Given the description of an element on the screen output the (x, y) to click on. 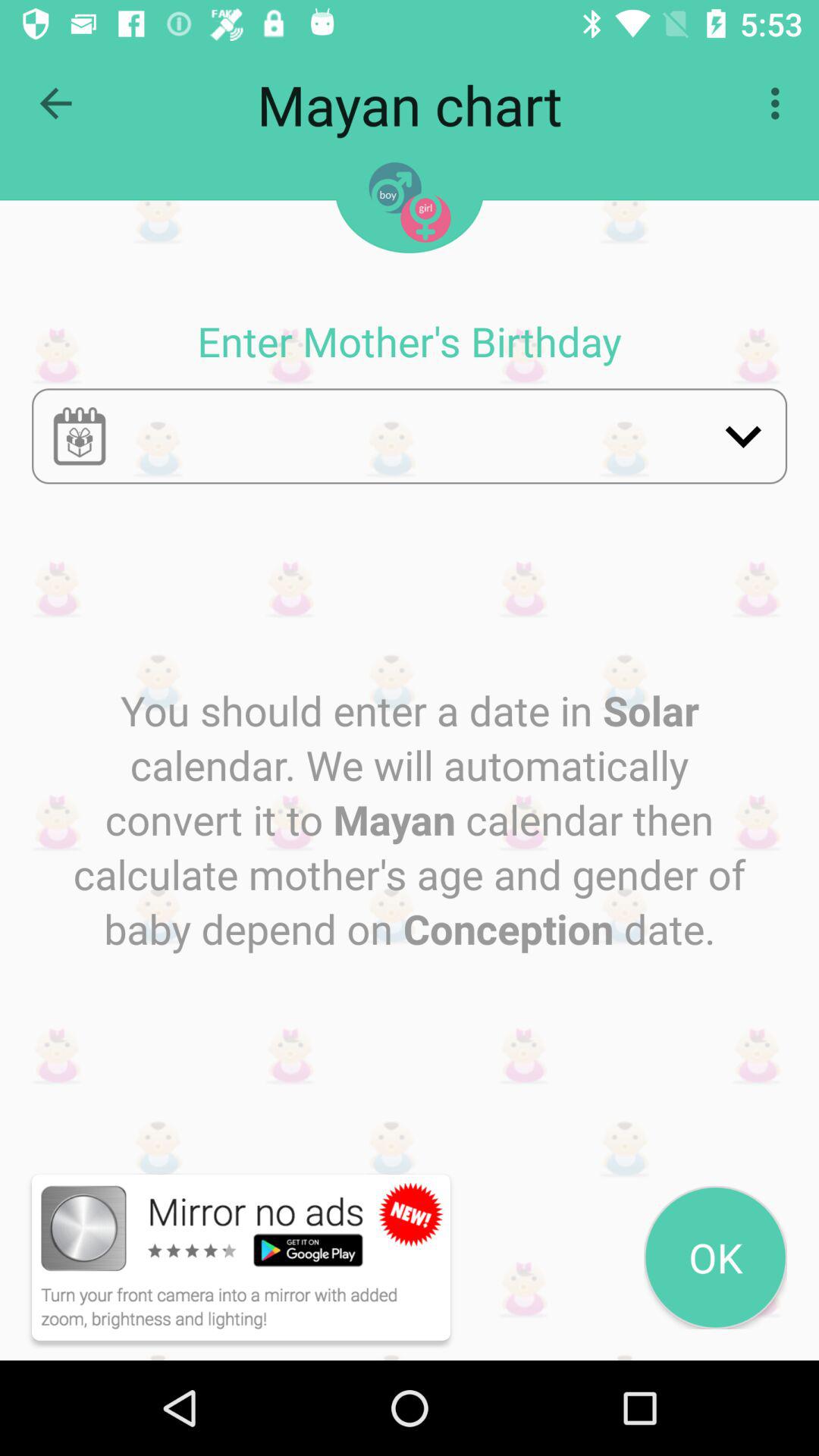
click on calendar button (79, 436)
click the button on the bottom left corner of the web page (220, 1257)
click the button on the bottom left corner of the web page (240, 1257)
move to the icon on the right next to the text mirror no ads (411, 1214)
click the three dots button on the top right corner of the web page (779, 103)
